Given the description of an element on the screen output the (x, y) to click on. 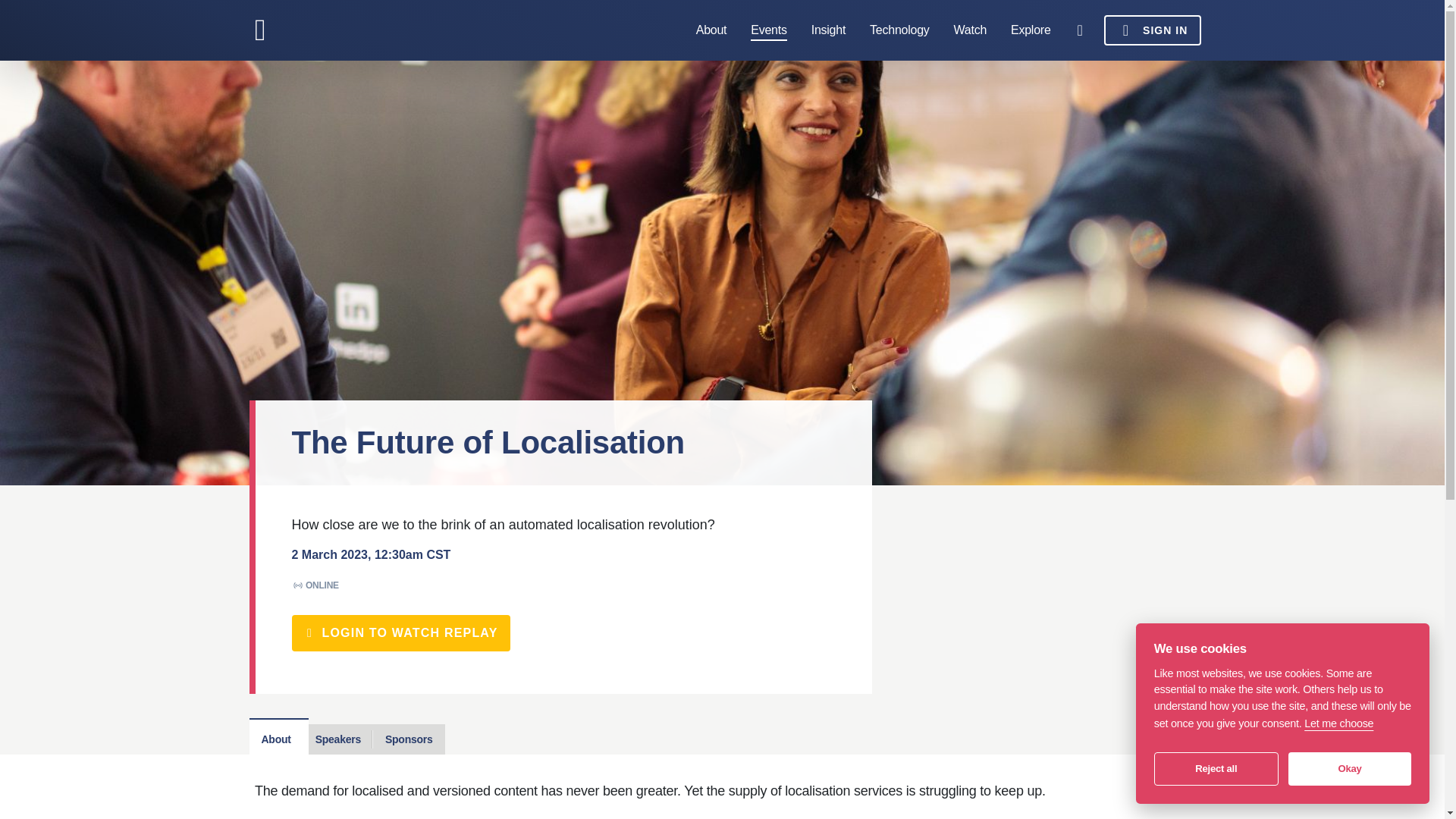
Events (768, 30)
Technology (898, 30)
Explore (1030, 30)
About (710, 30)
Watch (970, 30)
SIGN IN (1152, 30)
Insight (827, 30)
